Given the description of an element on the screen output the (x, y) to click on. 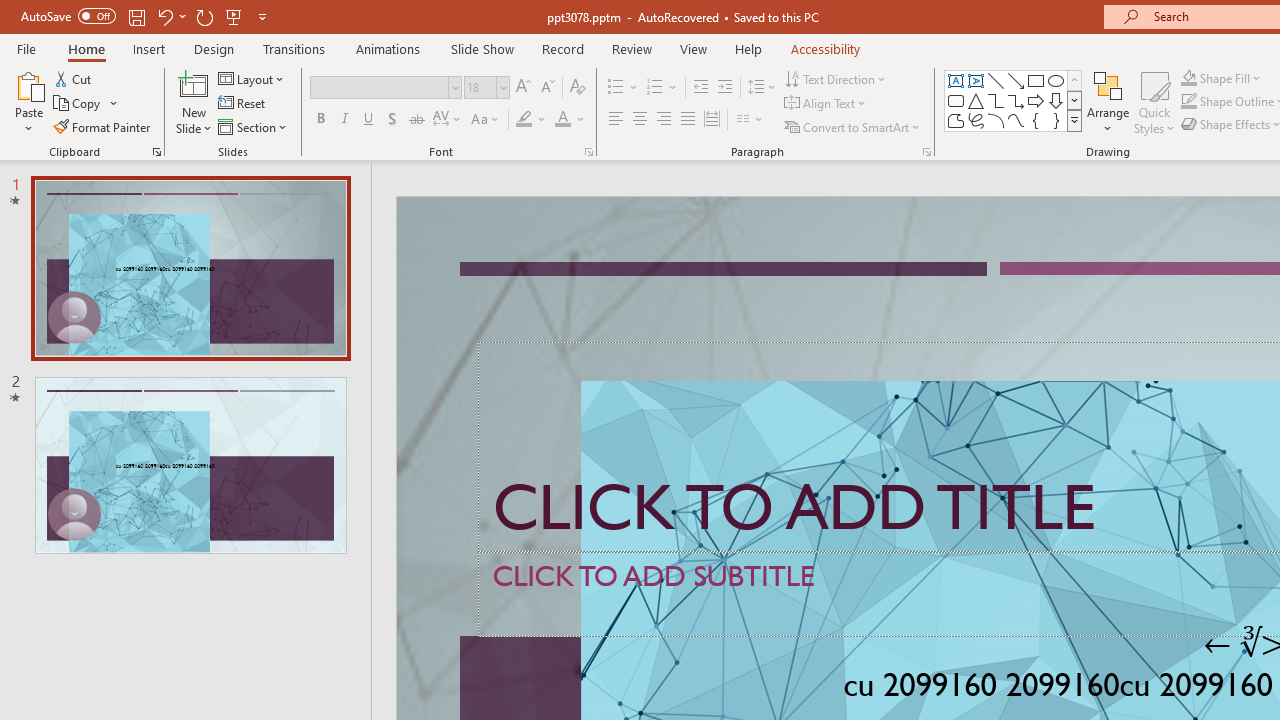
Shape Outline Green, Accent 1 (1188, 101)
